Given the description of an element on the screen output the (x, y) to click on. 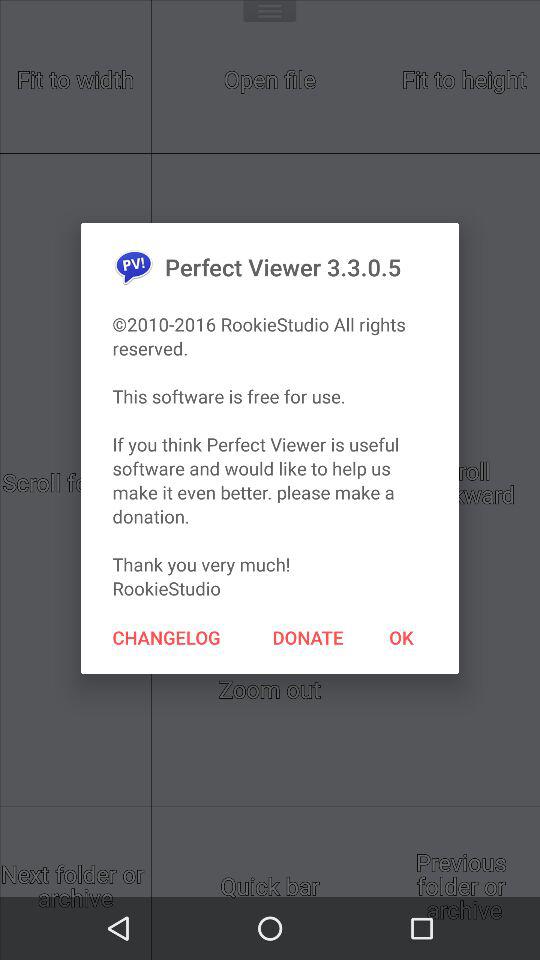
jump until ok (401, 637)
